Given the description of an element on the screen output the (x, y) to click on. 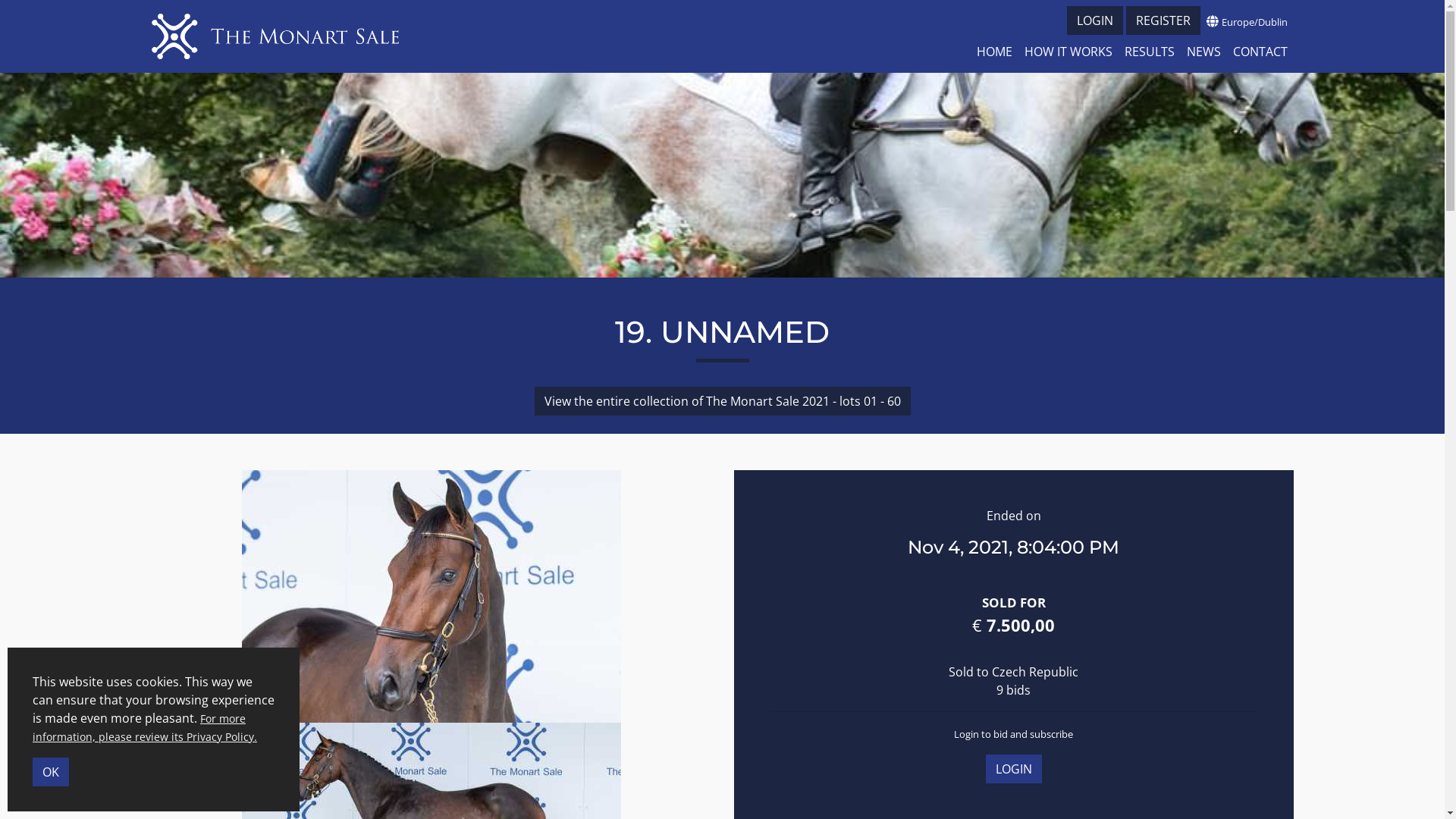
OK Element type: text (50, 771)
For more information, please review its Privacy Policy. Element type: text (144, 727)
NEWS Element type: text (1202, 51)
RESULTS Element type: text (1148, 51)
REGISTER Element type: text (1162, 20)
CONTACT Element type: text (1259, 51)
Europe/Dublin Element type: text (1245, 21)
HOME Element type: text (994, 51)
LOGIN Element type: text (1094, 20)
LOGIN Element type: text (1013, 768)
HOW IT WORKS Element type: text (1067, 51)
